Given the description of an element on the screen output the (x, y) to click on. 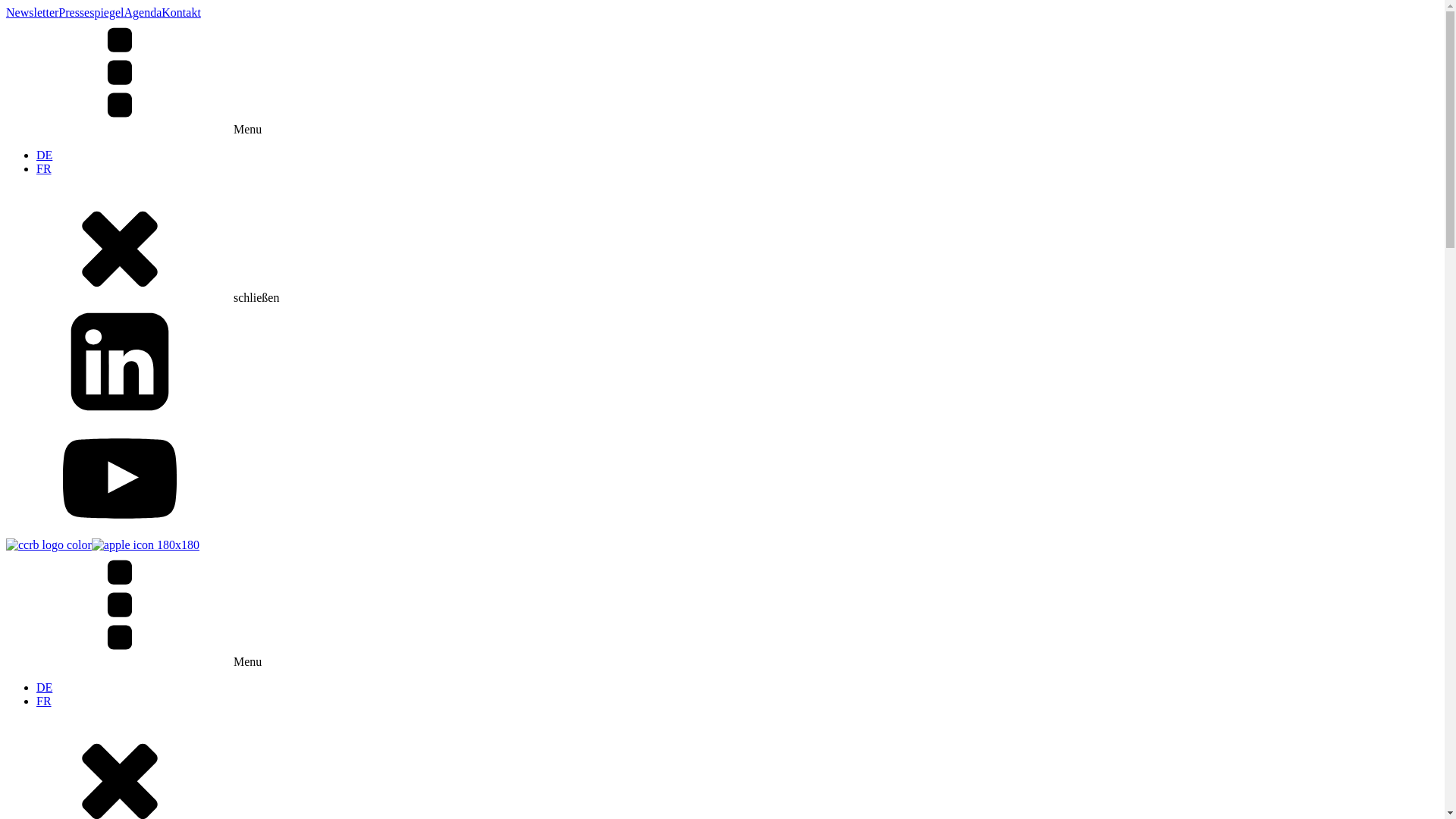
Agenda Element type: text (143, 12)
Kontakt Element type: text (180, 12)
Newsletter Element type: text (32, 12)
FR Element type: text (43, 700)
DE Element type: text (44, 154)
Pressespiegel Element type: text (90, 12)
FR Element type: text (43, 168)
DE Element type: text (44, 686)
